Given the description of an element on the screen output the (x, y) to click on. 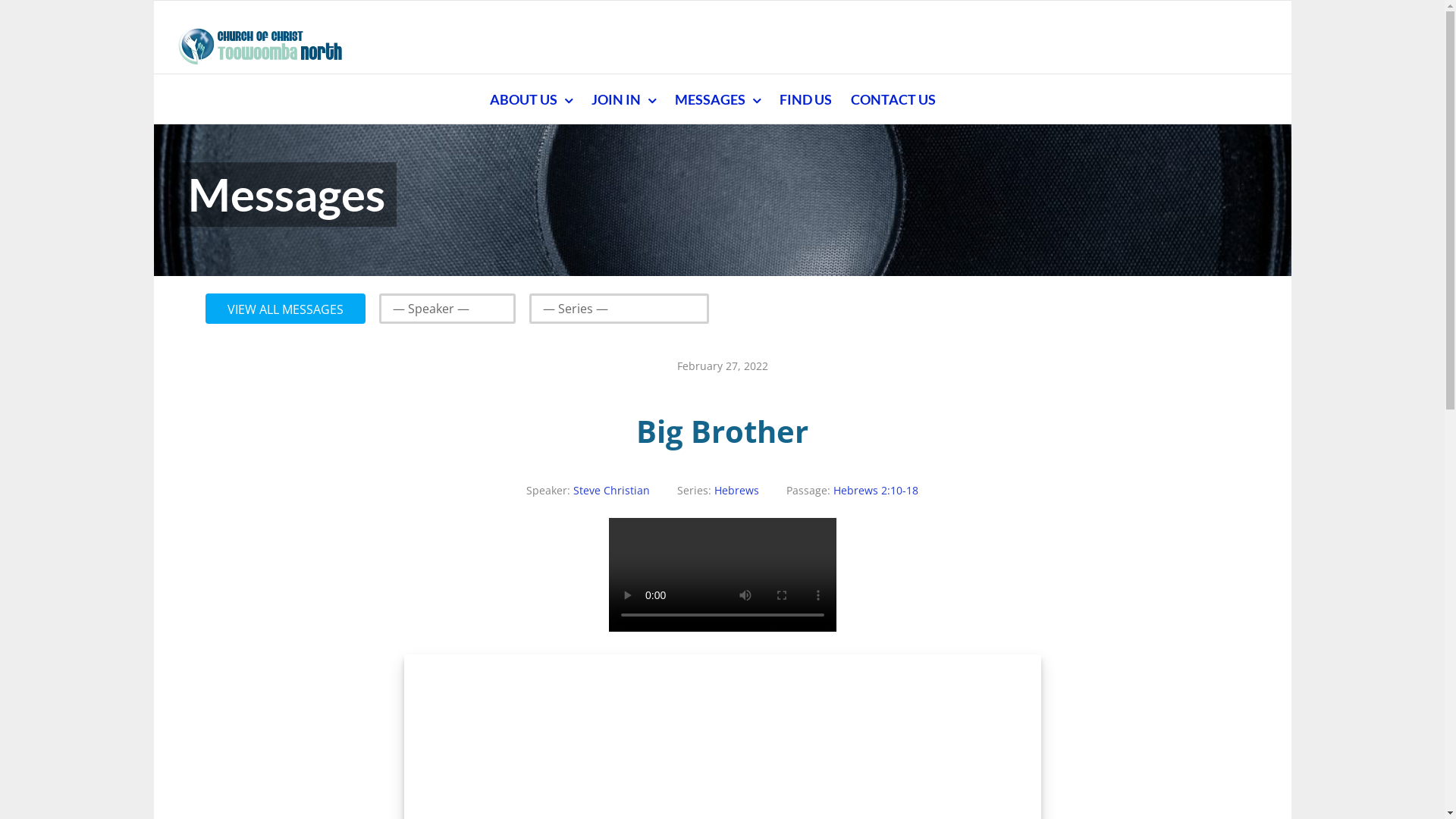
Hebrews Element type: text (736, 490)
ABOUT US Element type: text (530, 98)
FIND US Element type: text (805, 98)
JOIN IN Element type: text (623, 98)
VIEW ALL MESSAGES Element type: text (285, 308)
Hebrews 2:10-18 Element type: text (875, 490)
MESSAGES Element type: text (717, 98)
Steve Christian Element type: text (611, 490)
CONTACT US Element type: text (892, 98)
